Given the description of an element on the screen output the (x, y) to click on. 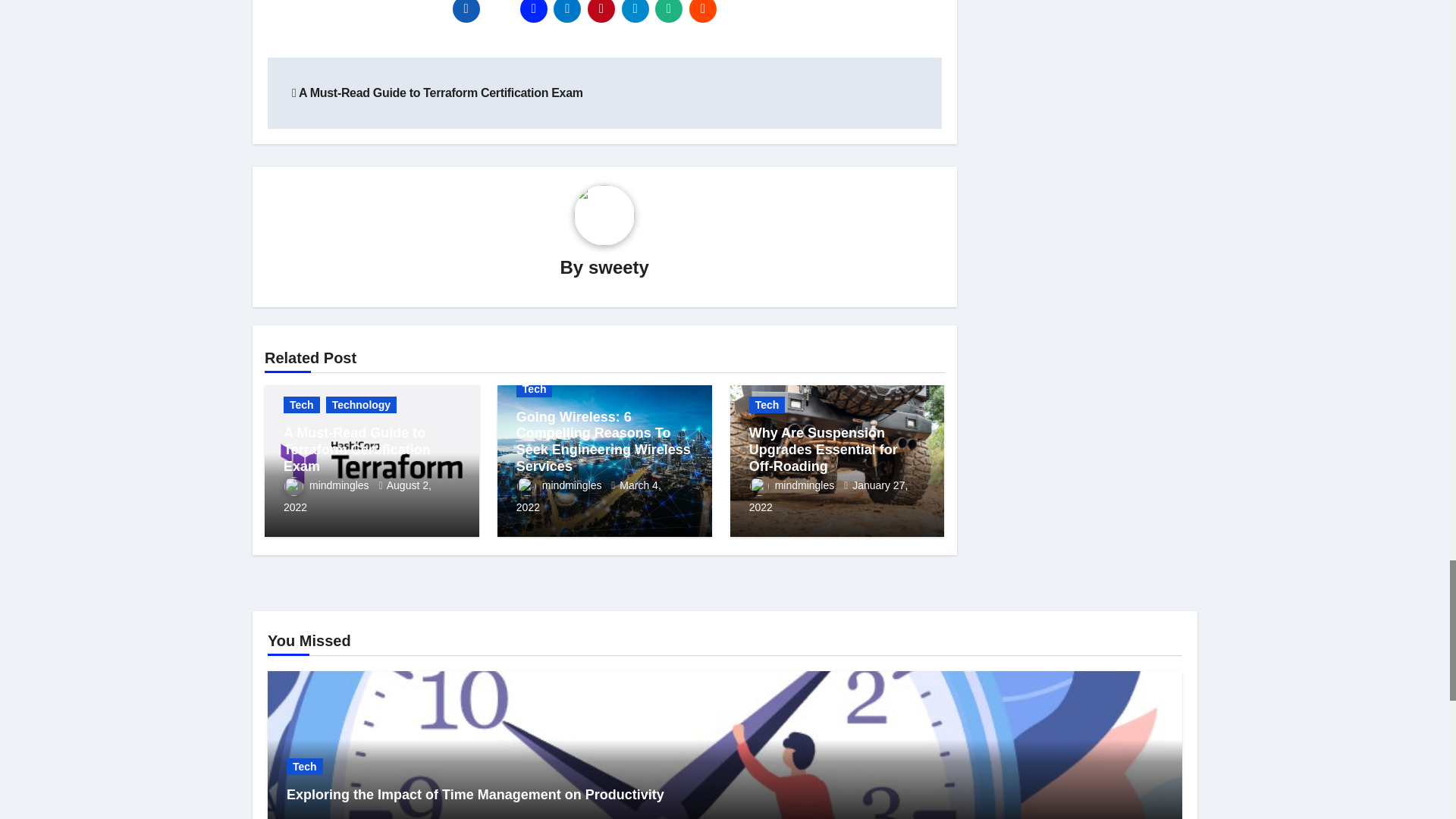
A Must-Read Guide to Terraform Certification Exam (437, 92)
